Given the description of an element on the screen output the (x, y) to click on. 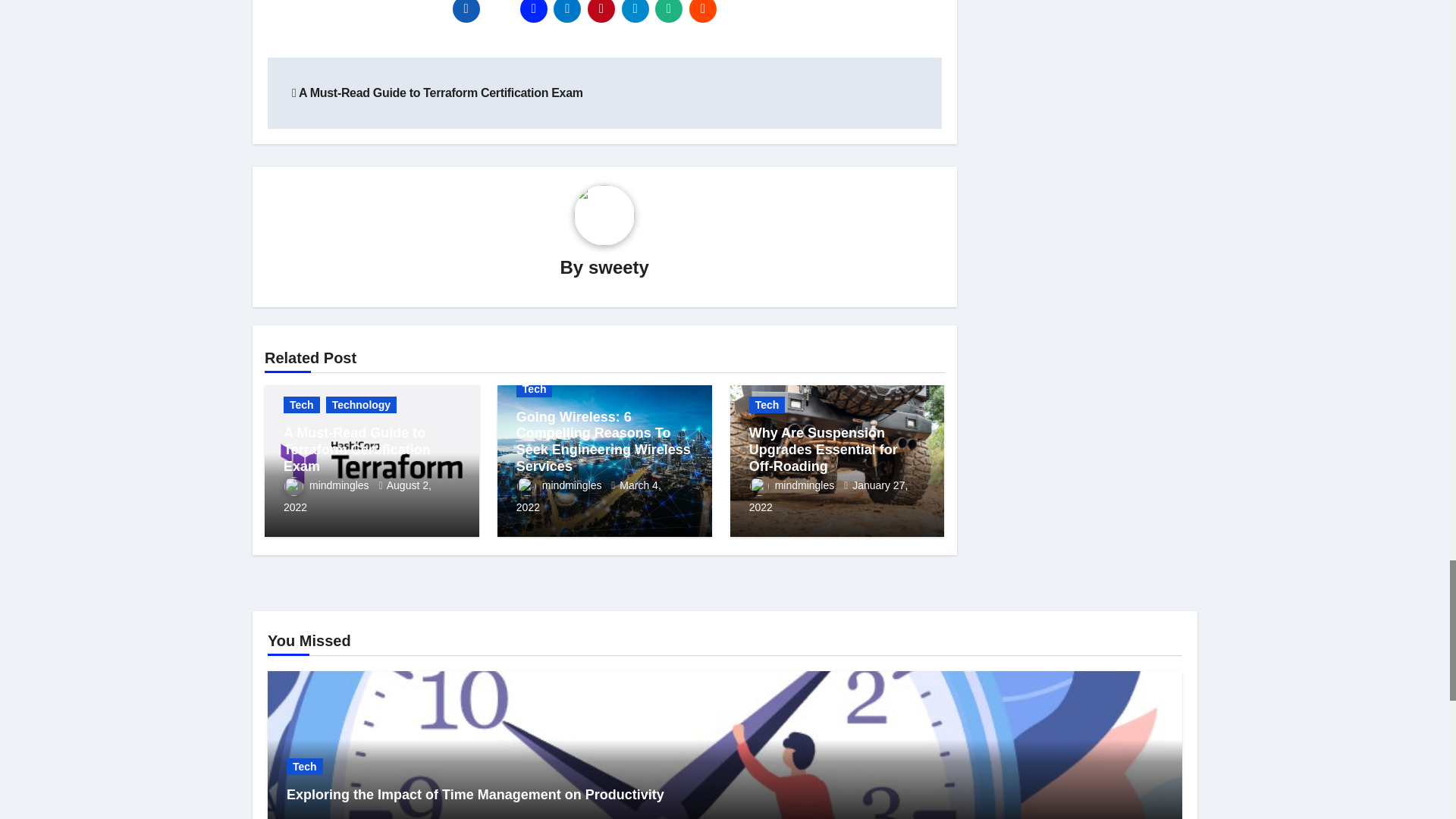
A Must-Read Guide to Terraform Certification Exam (437, 92)
